Given the description of an element on the screen output the (x, y) to click on. 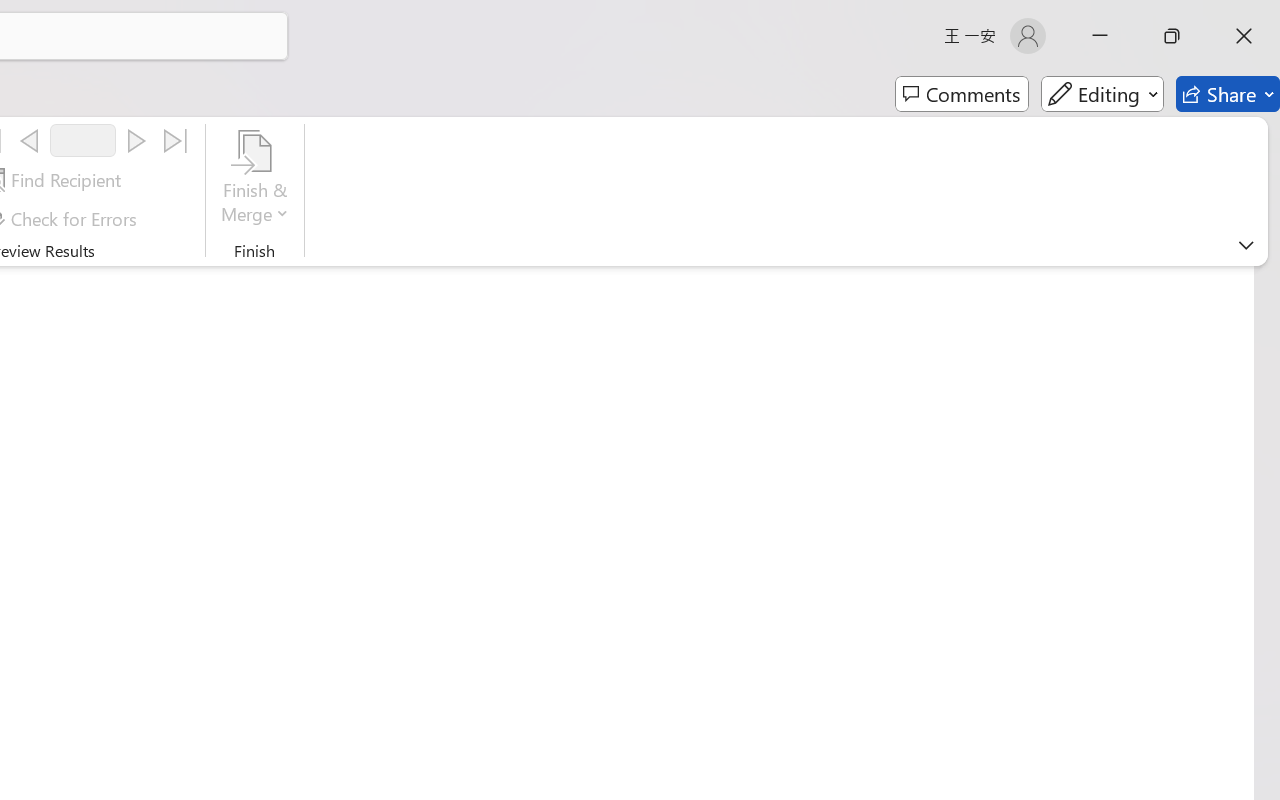
Percent (59, 722)
Czech (1030, 455)
